Given the description of an element on the screen output the (x, y) to click on. 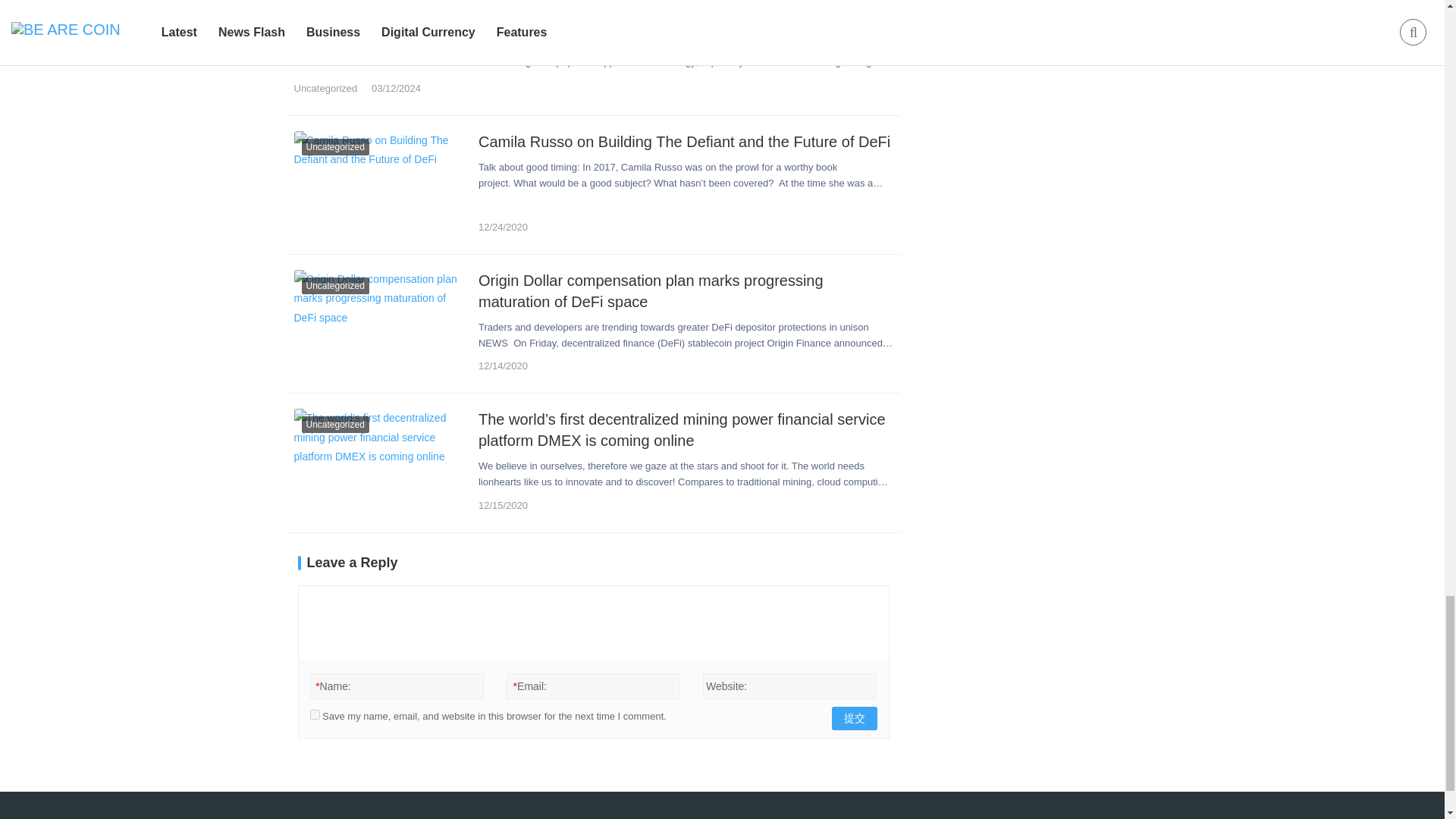
Camila Russo on Building The Defiant and the Future of DeFi (380, 185)
yes (313, 714)
Camila Russo on Building The Defiant and the Future of DeFi (686, 141)
Uncategorized (326, 87)
